Given the description of an element on the screen output the (x, y) to click on. 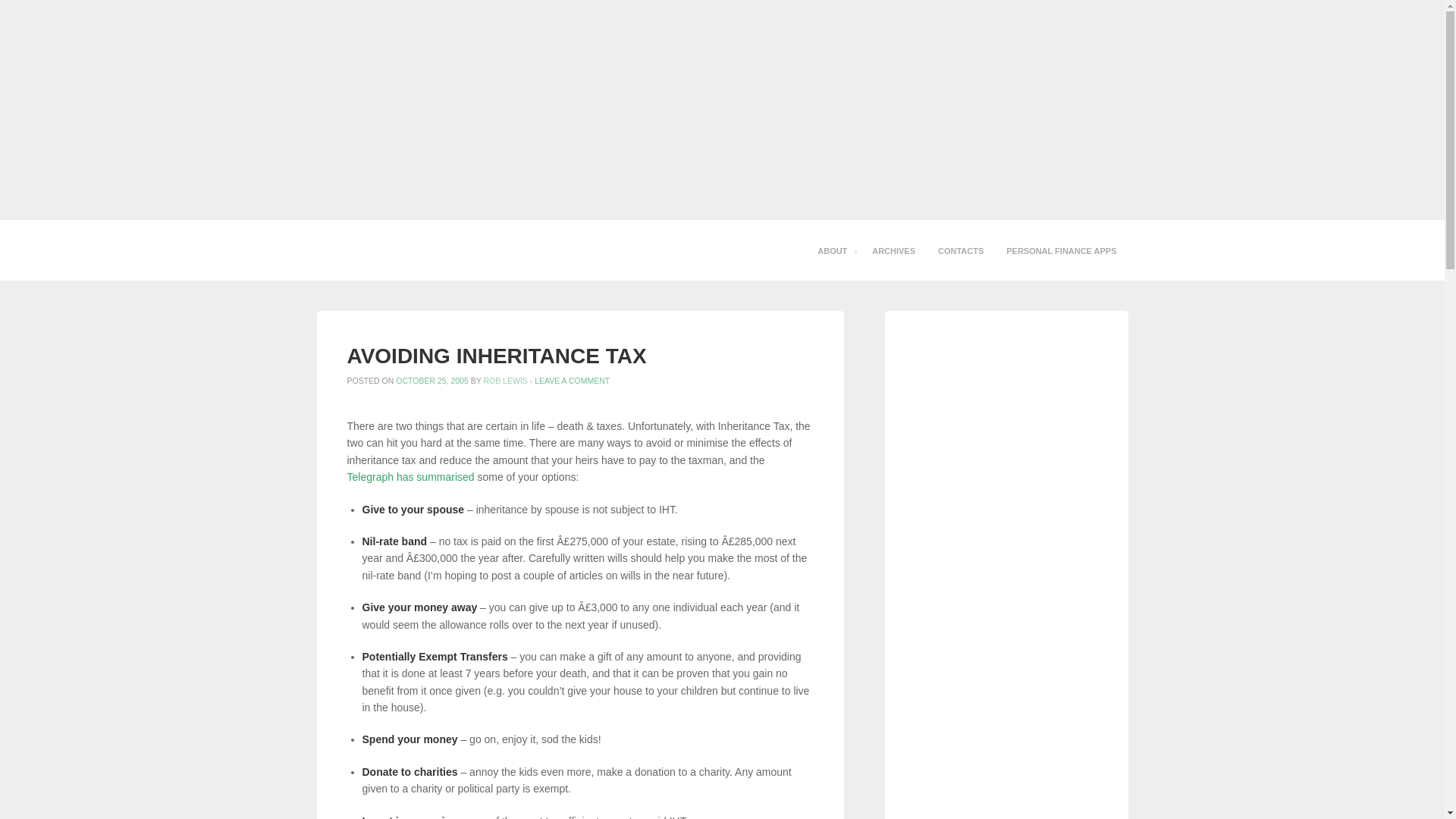
Search (24, 13)
ROB LEWIS (505, 379)
CONTACTS (960, 250)
LEAVE A COMMENT (572, 379)
Telegraph has summarised (410, 476)
OCTOBER 25, 2005 (432, 379)
PERSONAL FINANCE APPS (1060, 250)
ARCHIVES (893, 250)
